Given the description of an element on the screen output the (x, y) to click on. 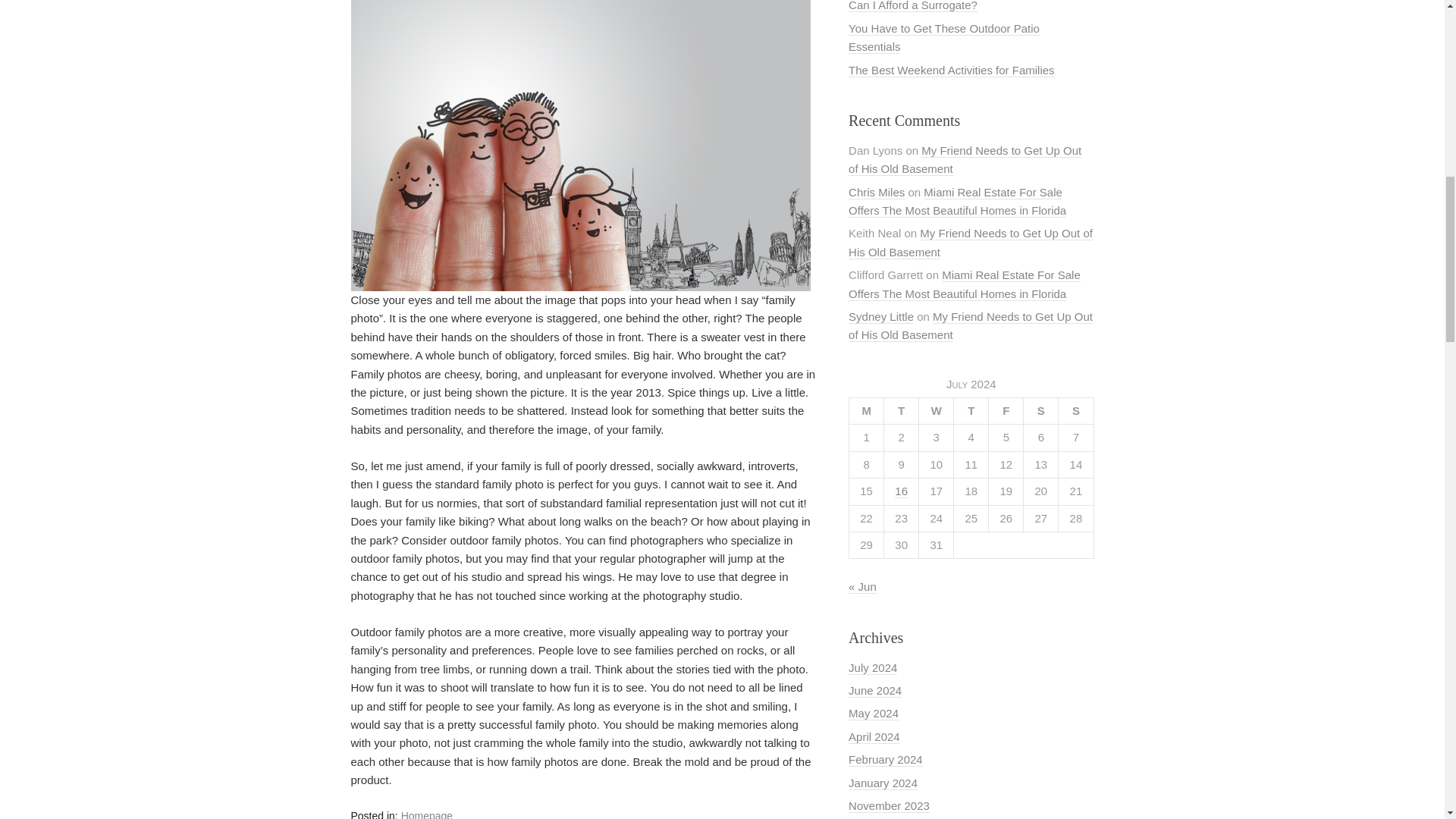
You Have to Get These Outdoor Patio Essentials (943, 38)
November 2023 (889, 806)
Can I Afford a Surrogate? (912, 6)
The Best Weekend Activities for Families (951, 69)
Monday (865, 410)
June 2024 (874, 690)
Chris Miles (876, 192)
Thursday (970, 410)
July 2024 (872, 667)
Tuesday (900, 410)
Friday (1005, 410)
Saturday (1040, 410)
April 2024 (873, 736)
